Given the description of an element on the screen output the (x, y) to click on. 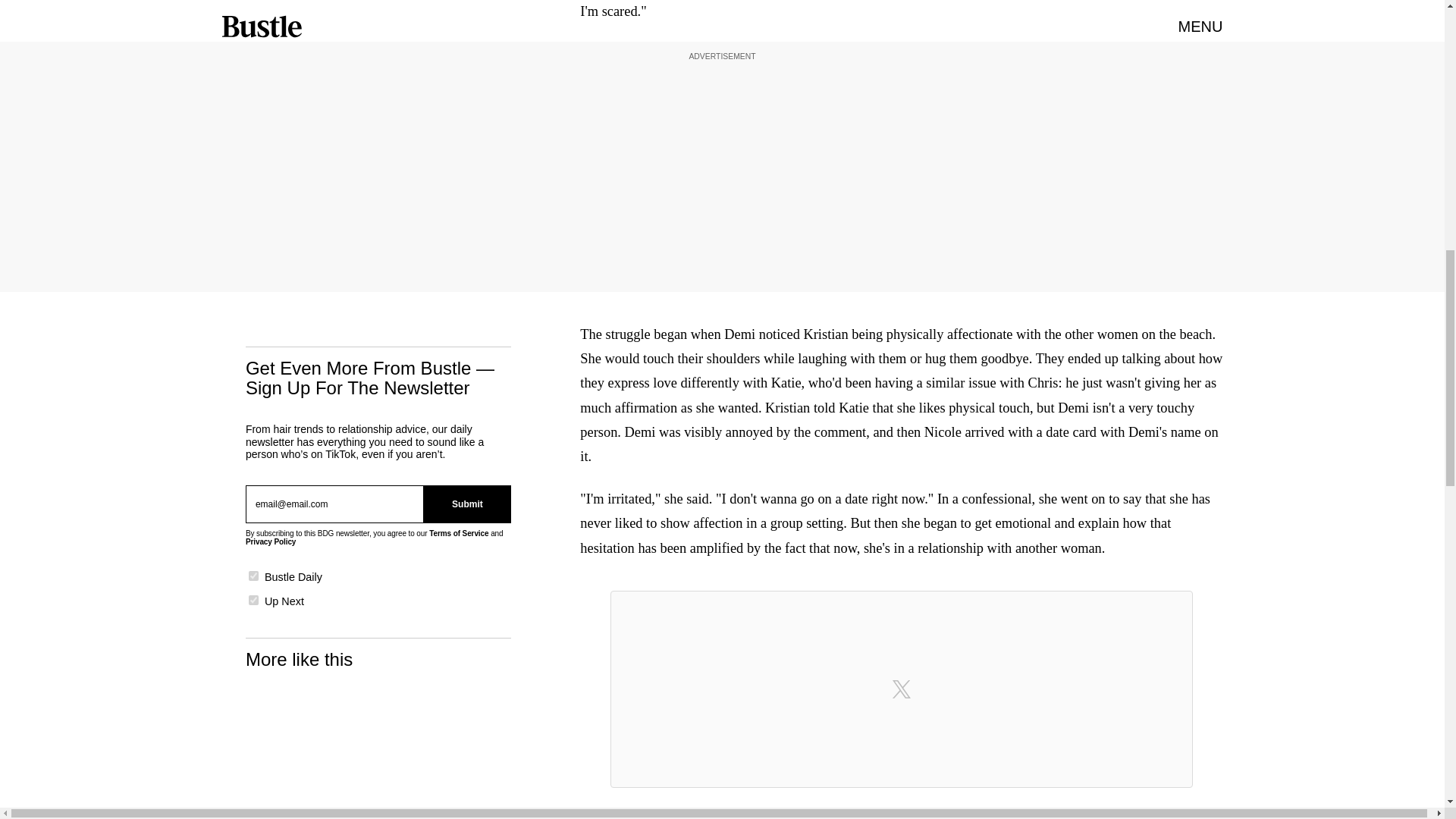
Terms of Service (458, 533)
Submit (467, 504)
Privacy Policy (270, 541)
